Given the description of an element on the screen output the (x, y) to click on. 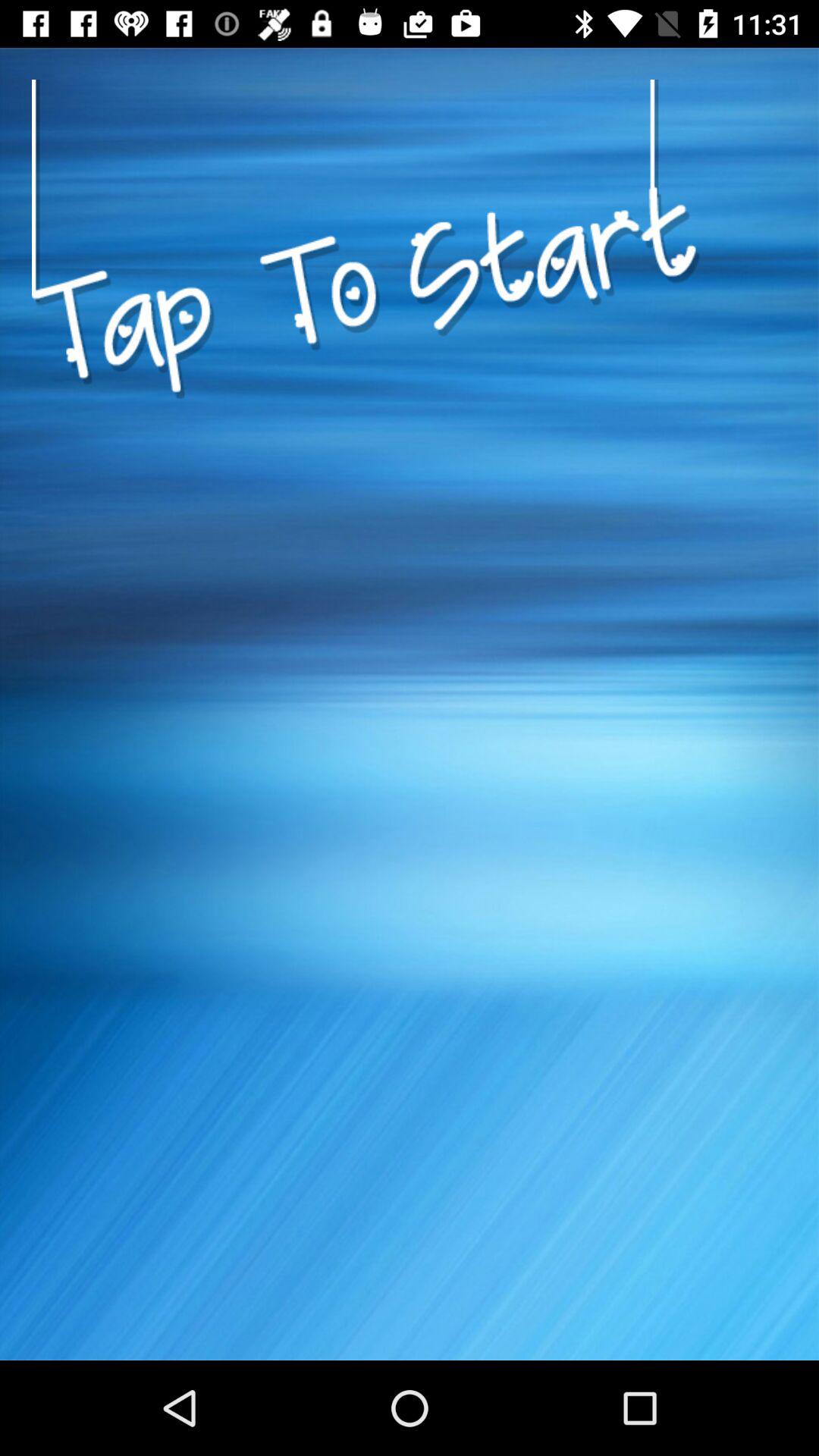
start the app button (365, 465)
